Given the description of an element on the screen output the (x, y) to click on. 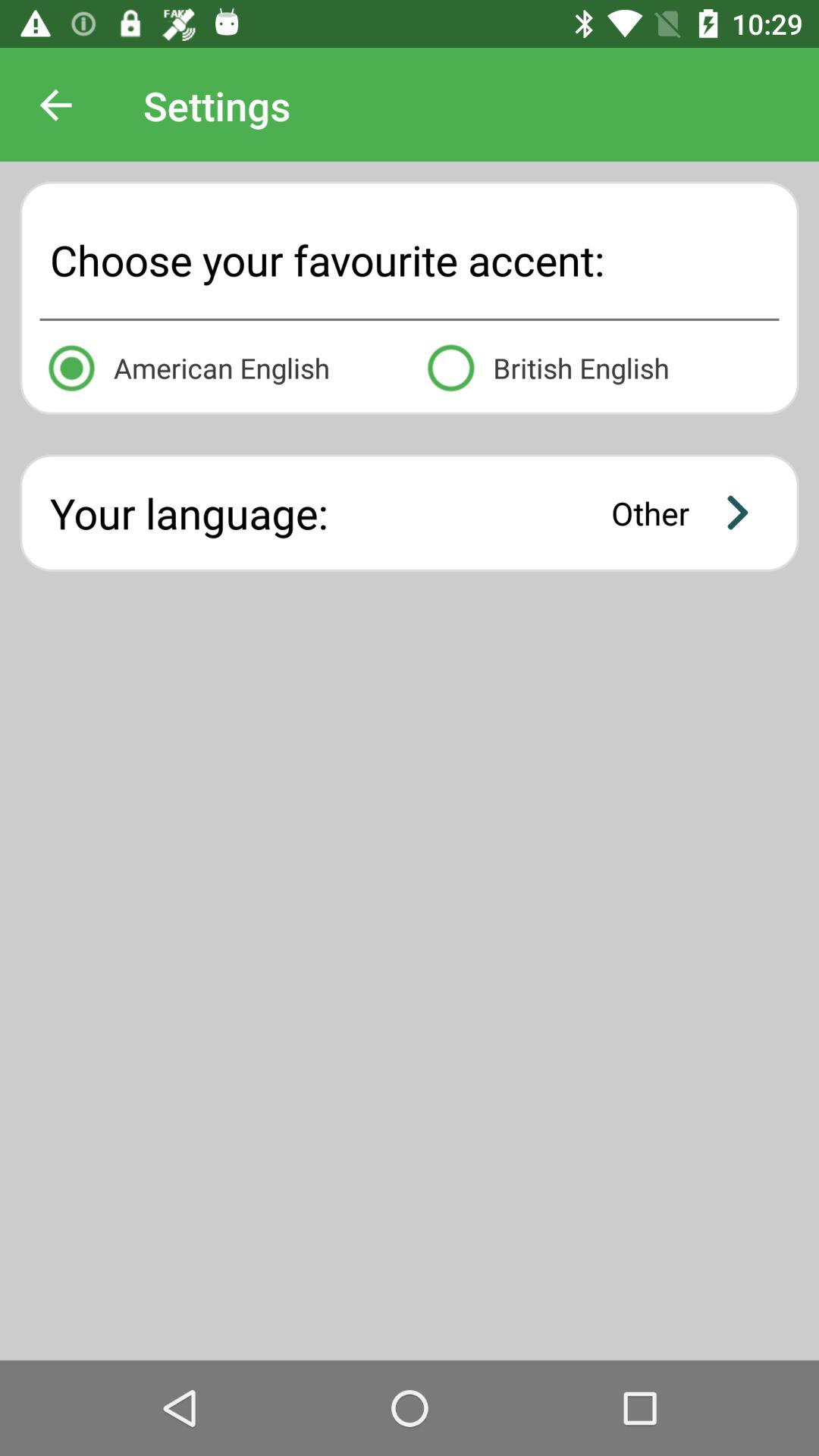
click the item to the left of the settings (55, 105)
